Given the description of an element on the screen output the (x, y) to click on. 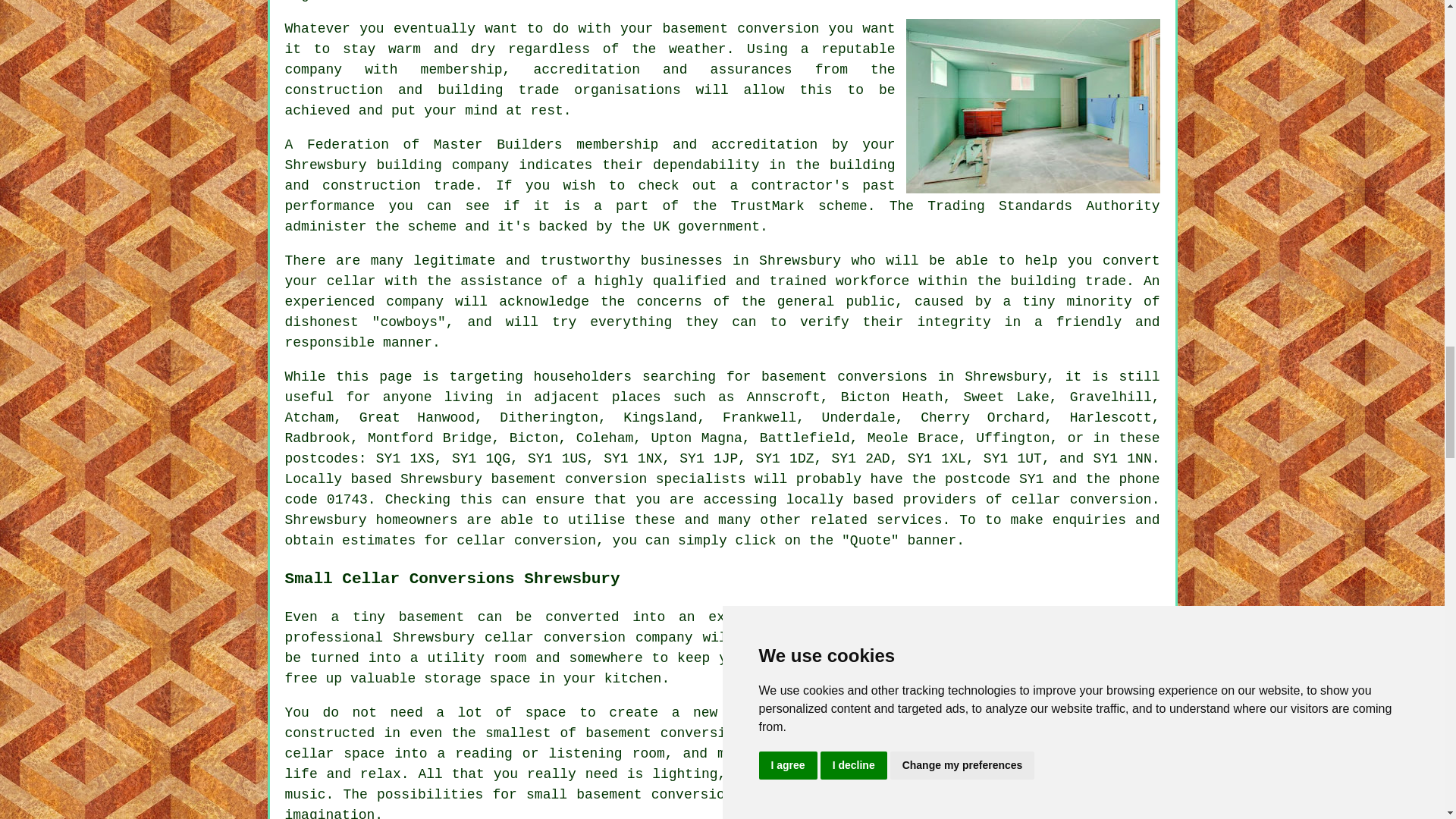
conversion specialists (654, 478)
cellar conversion (1081, 499)
conversion (554, 540)
